Given the description of an element on the screen output the (x, y) to click on. 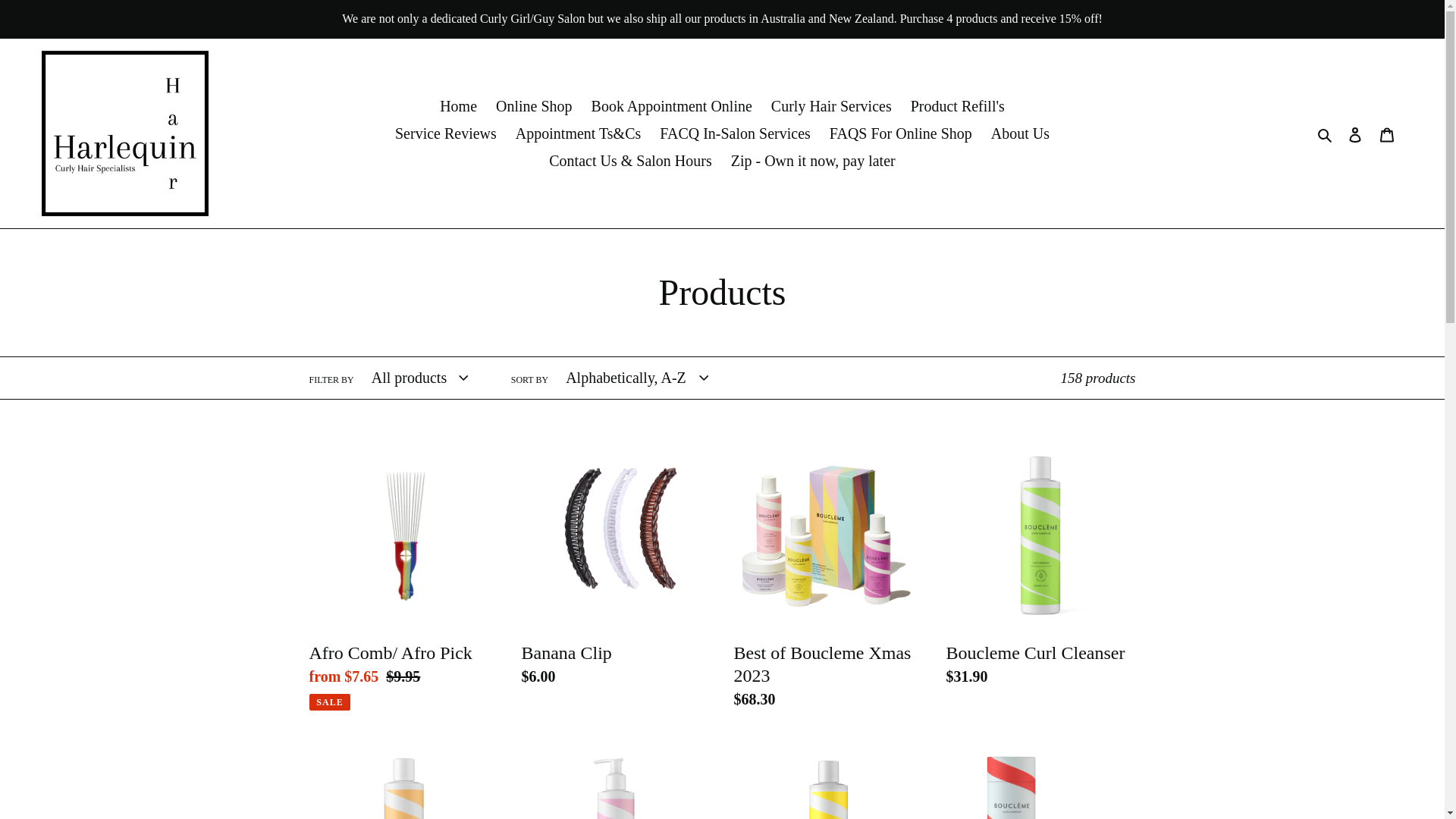
Afro Comb/ Afro Pick Element type: text (403, 575)
FAQS For Online Shop Element type: text (900, 133)
Book Appointment Online Element type: text (671, 105)
Banana Clip Element type: text (616, 567)
Product Refill's Element type: text (957, 105)
Boucleme Curl Cleanser Element type: text (1040, 567)
Appointment Ts&Cs Element type: text (578, 133)
FACQ In-Salon Services Element type: text (735, 133)
Cart Element type: text (1386, 133)
Zip - Own it now, pay later Element type: text (813, 160)
Home Element type: text (458, 105)
Curly Hair Services Element type: text (831, 105)
Search Element type: text (1325, 133)
Service Reviews Element type: text (445, 133)
Contact Us & Salon Hours Element type: text (629, 160)
Best of Boucleme Xmas 2023 Element type: text (828, 578)
Online Shop Element type: text (534, 105)
Log in Element type: text (1355, 133)
About Us Element type: text (1020, 133)
